Given the description of an element on the screen output the (x, y) to click on. 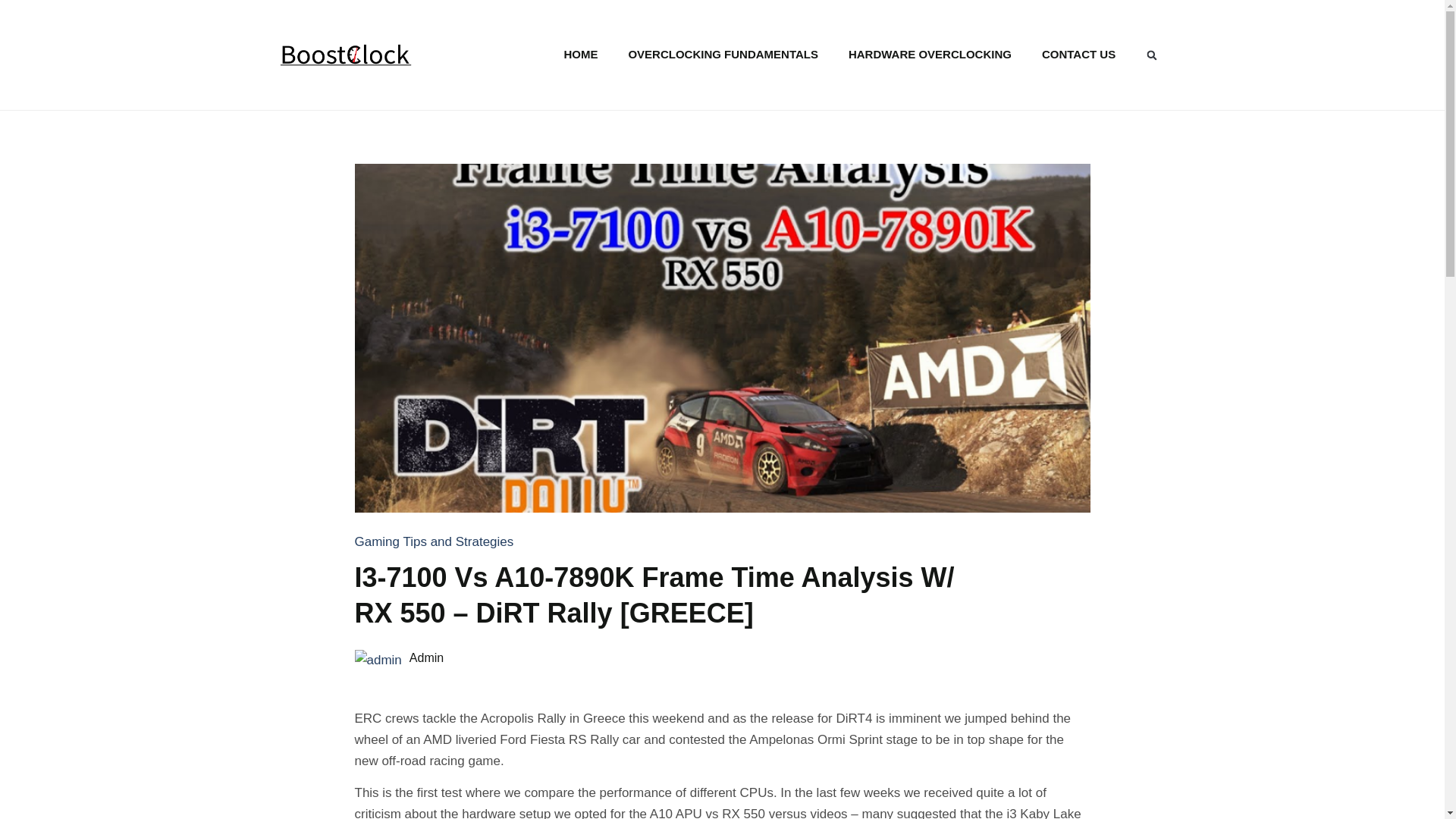
Gaming Tips and Strategies (434, 541)
HOME (580, 54)
OVERCLOCKING FUNDAMENTALS (722, 54)
CONTACT US (1078, 54)
HARDWARE OVERCLOCKING (929, 54)
Admin (749, 658)
